Given the description of an element on the screen output the (x, y) to click on. 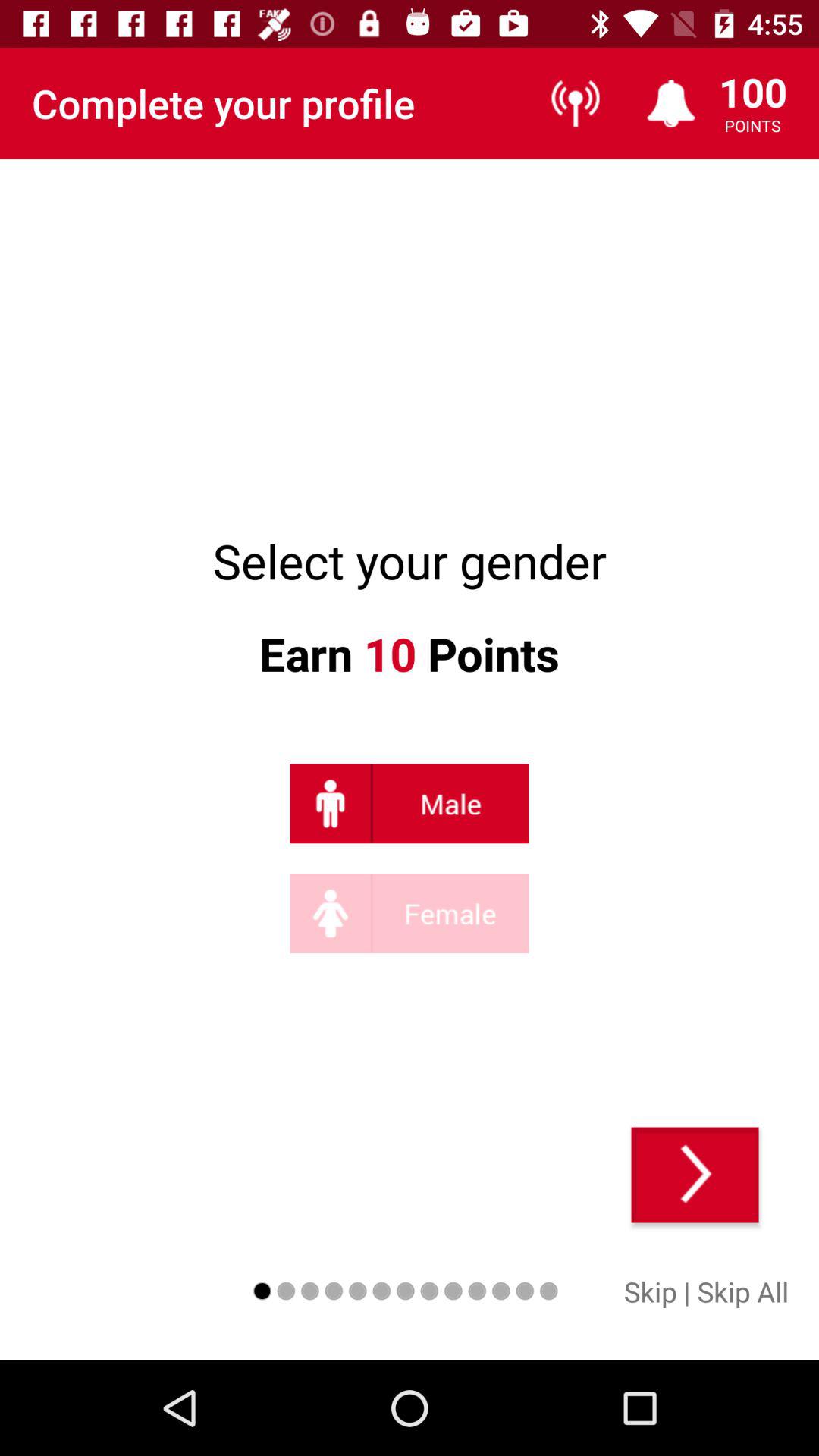
select gender male (409, 803)
